Given the description of an element on the screen output the (x, y) to click on. 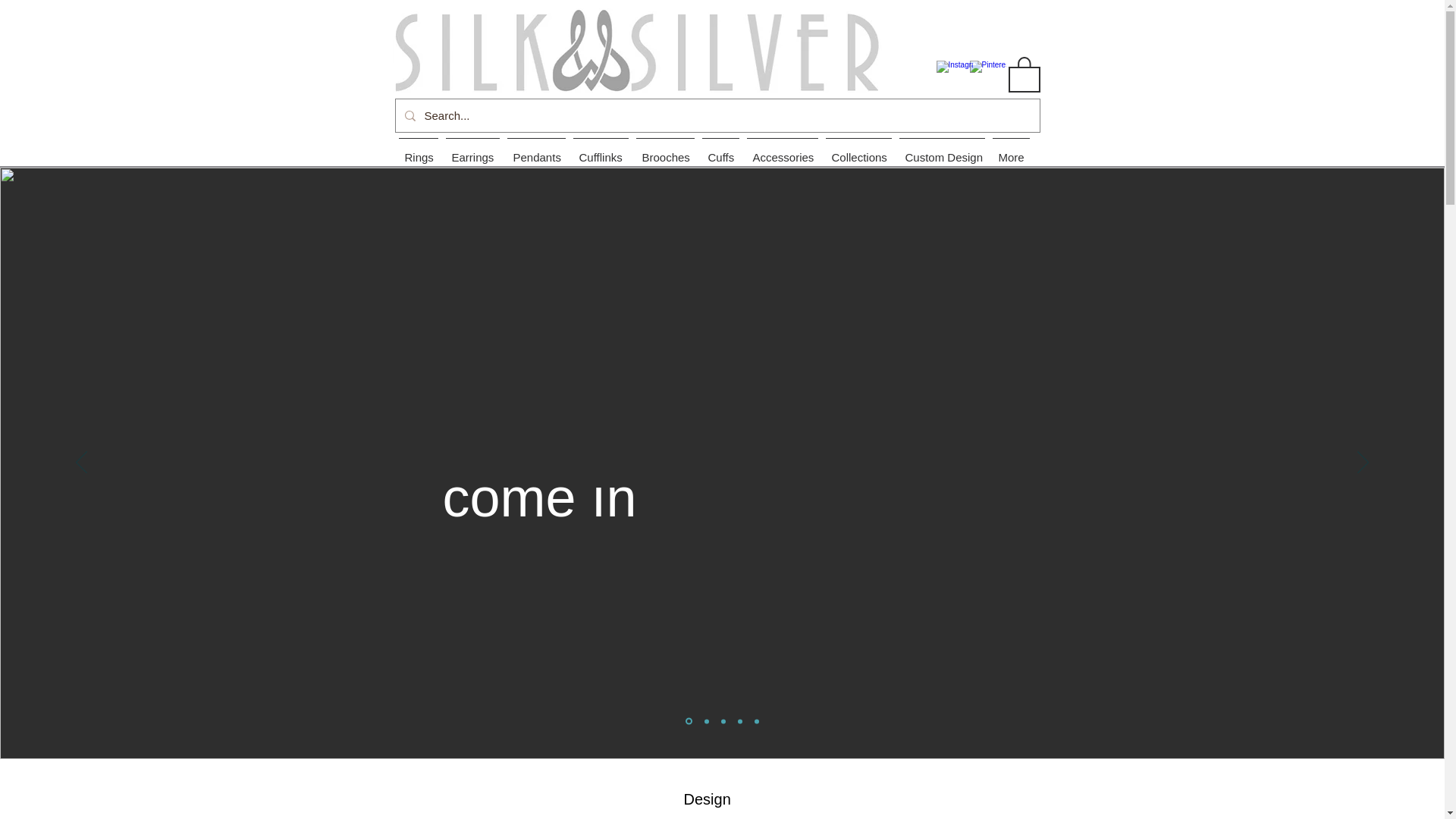
Brooches (664, 150)
Cufflinks (600, 150)
Custom Jewelry (639, 47)
Rings (417, 150)
Cuffs (719, 150)
Earrings (471, 150)
Pendants (536, 150)
